Given the description of an element on the screen output the (x, y) to click on. 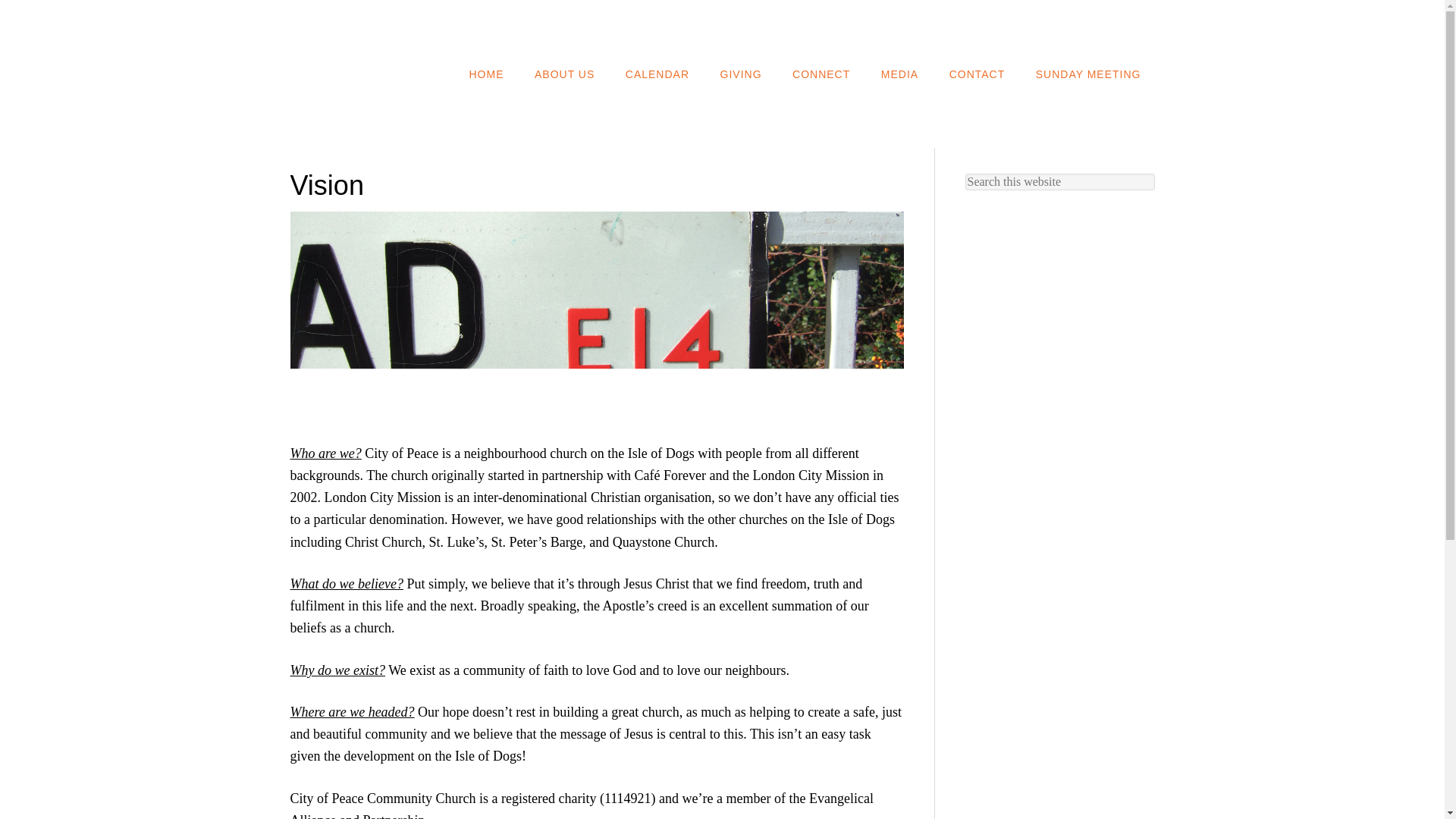
ABOUT US (564, 73)
SUNDAY MEETING (1088, 73)
CONTACT (977, 73)
CITY OF PEACE COMMUNITY CHURCH (410, 24)
e14 (595, 313)
MEDIA (899, 73)
HOME (485, 73)
CONNECT (820, 73)
